Given the description of an element on the screen output the (x, y) to click on. 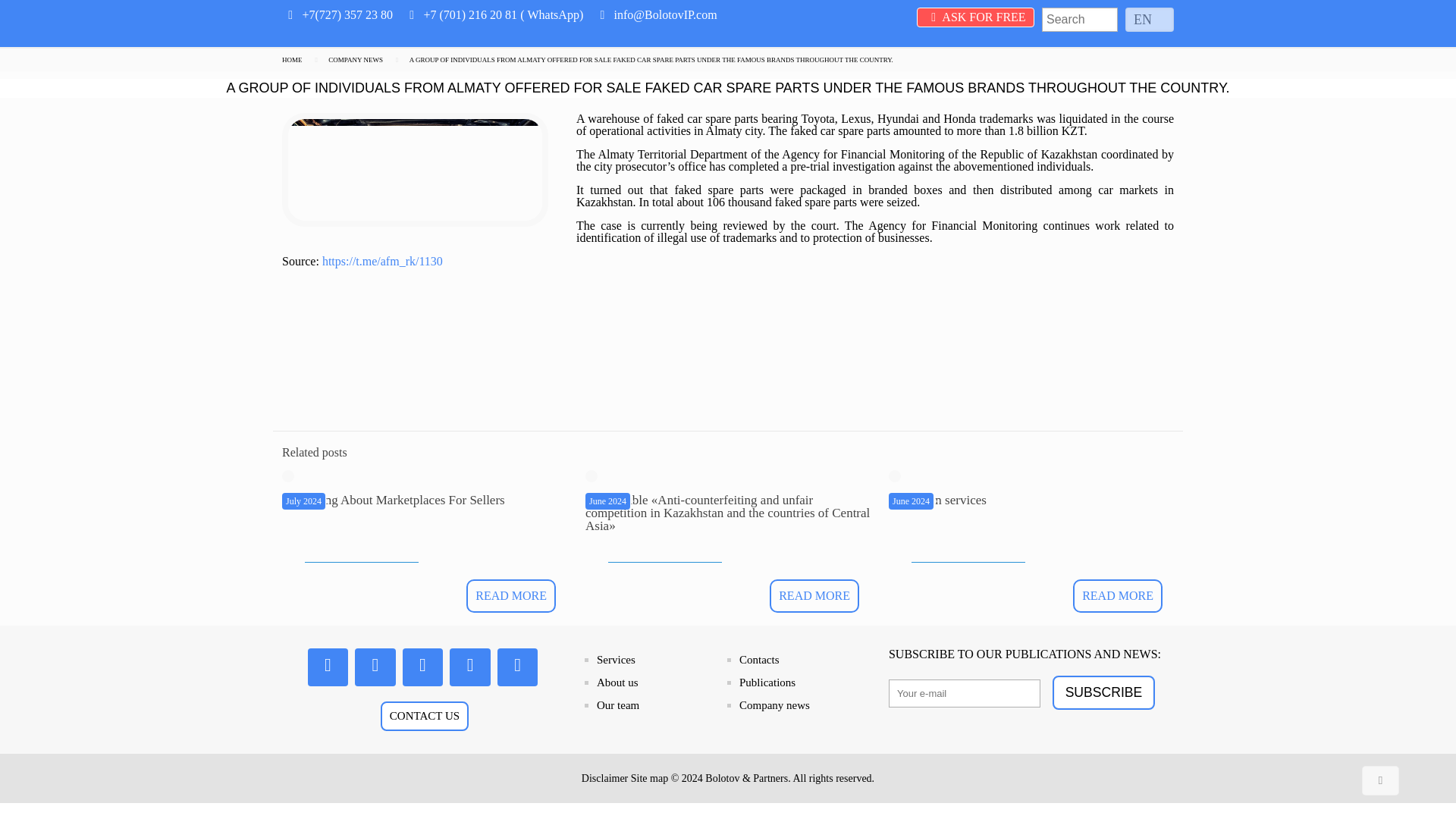
WhatsApp (552, 14)
ASK FOR FREE (975, 17)
SUBSCRIBE (1103, 692)
